Given the description of an element on the screen output the (x, y) to click on. 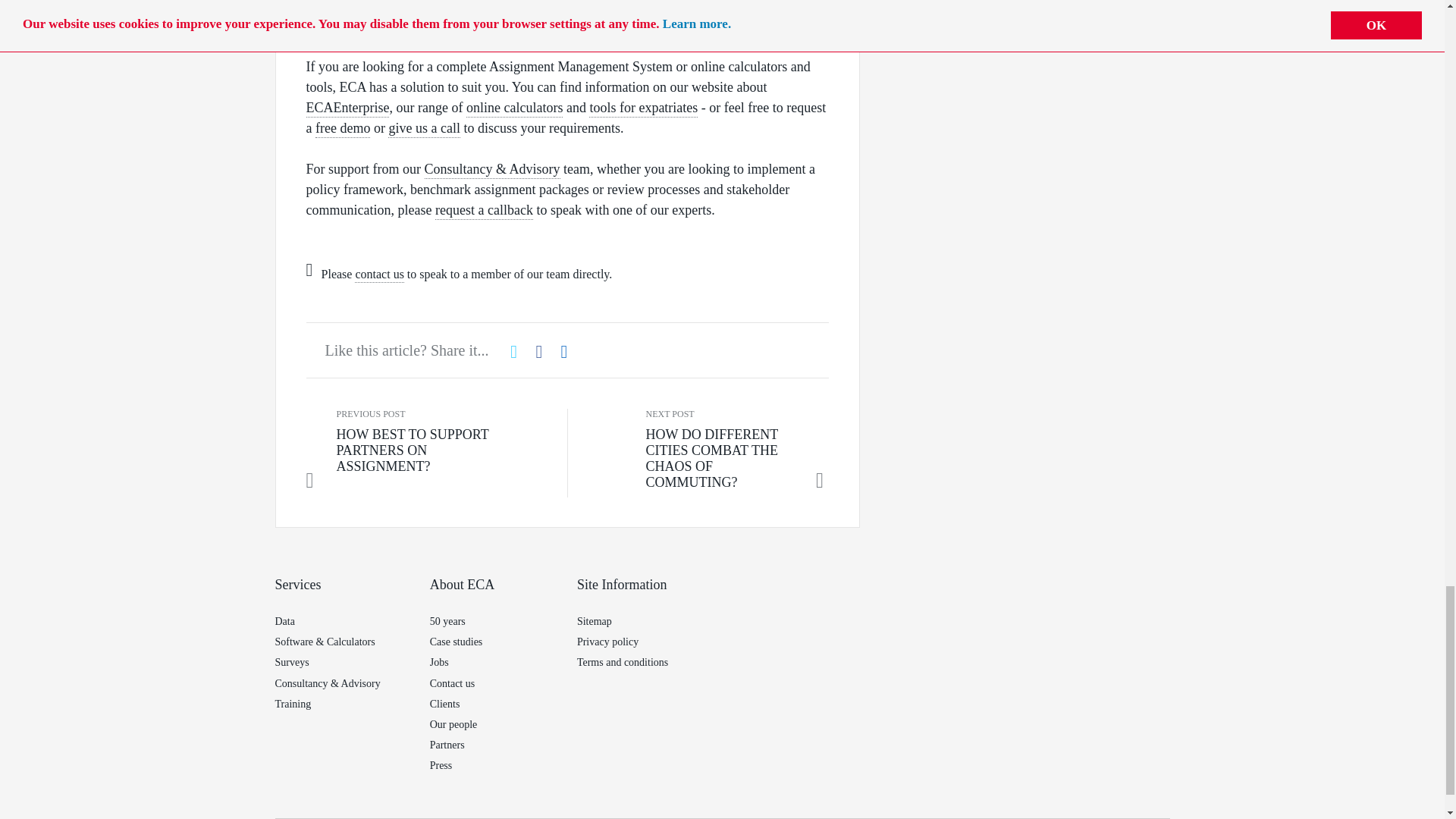
free demo (342, 129)
Twitter (516, 352)
ECAEnterprise (347, 108)
tools for expatriates (643, 108)
give us a call (424, 129)
online calculators (513, 108)
